Given the description of an element on the screen output the (x, y) to click on. 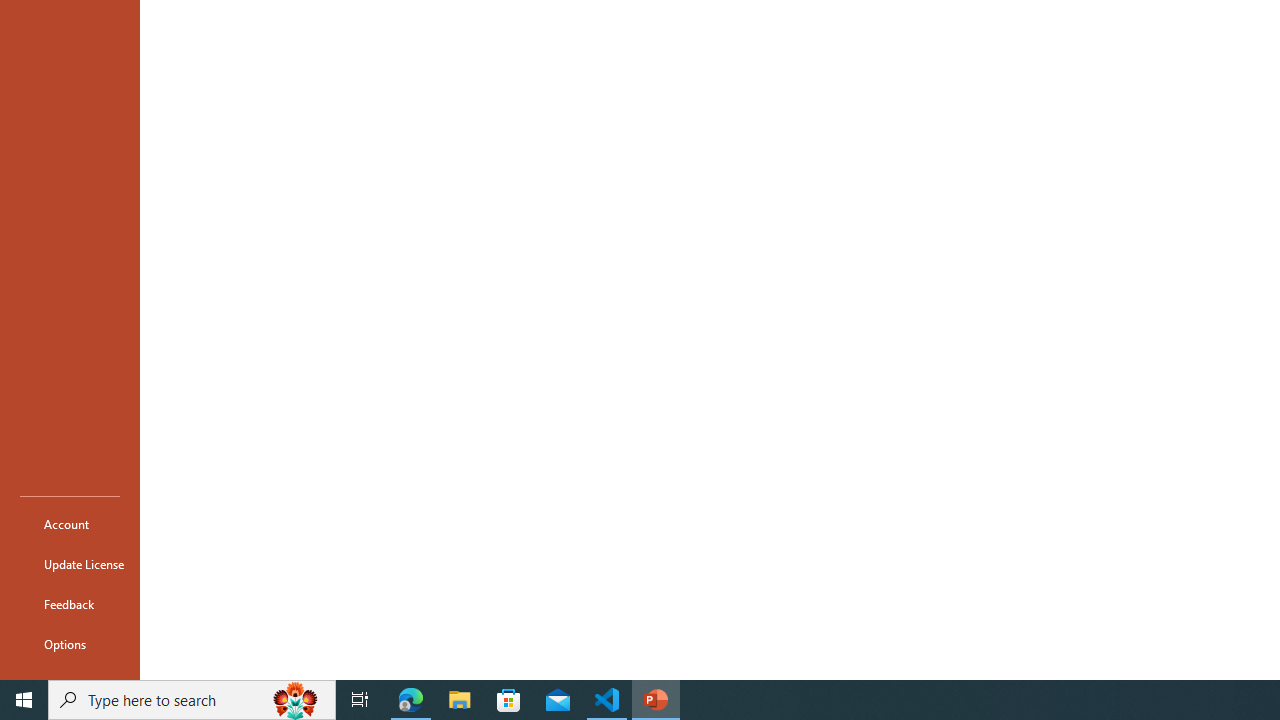
Update License (69, 563)
Feedback (69, 603)
Account (69, 523)
Options (69, 643)
